Given the description of an element on the screen output the (x, y) to click on. 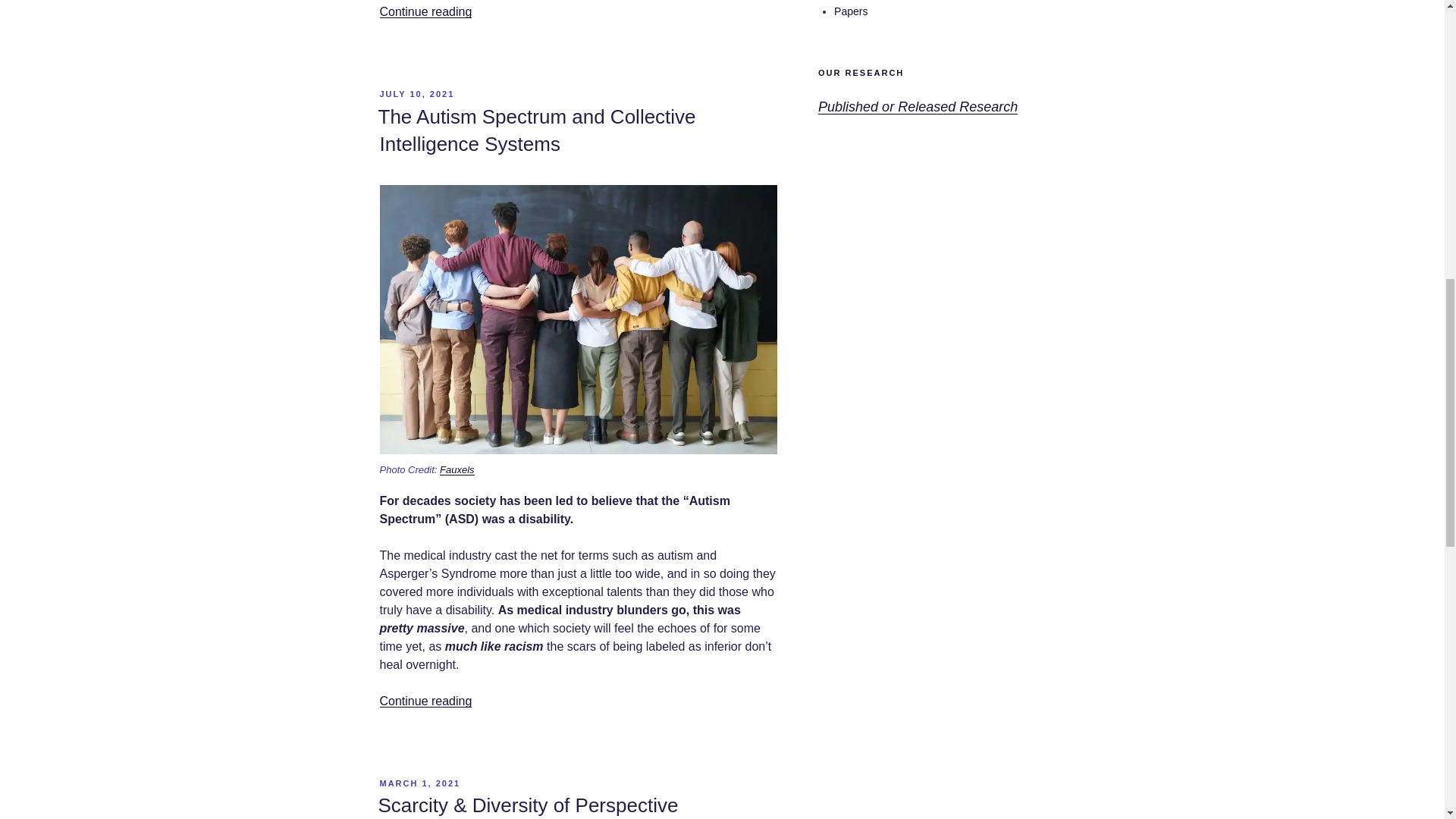
Fauxels (456, 469)
Papers (850, 10)
MARCH 1, 2021 (419, 782)
JULY 10, 2021 (416, 93)
The Autism Spectrum and Collective Intelligence Systems (536, 129)
Published or Released Research (917, 106)
